Given the description of an element on the screen output the (x, y) to click on. 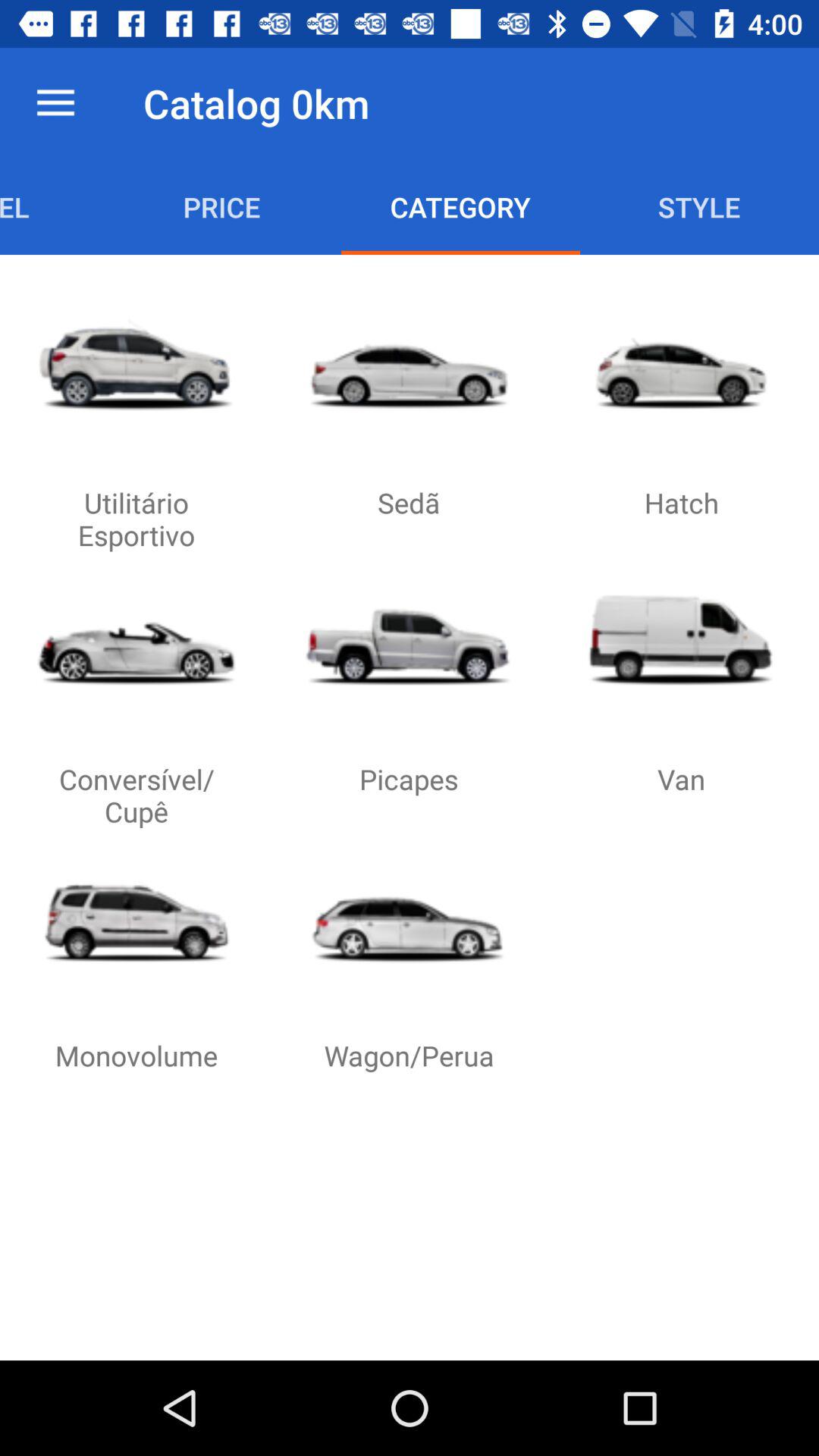
turn on item next to the catalog 0km (55, 103)
